Given the description of an element on the screen output the (x, y) to click on. 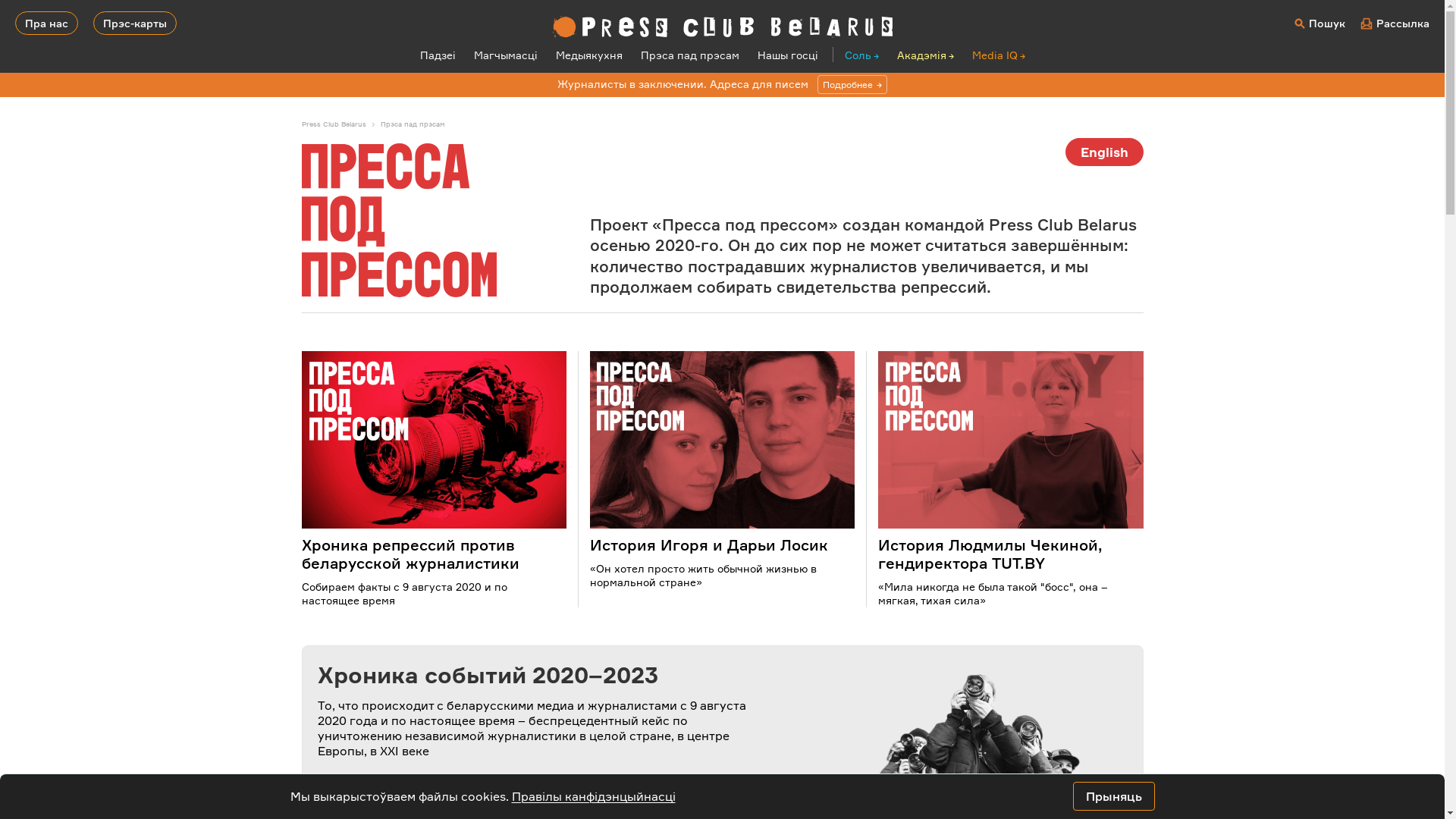
English Element type: text (1103, 152)
Media IQ Element type: text (998, 54)
Press Club Belarus Element type: text (340, 123)
